Given the description of an element on the screen output the (x, y) to click on. 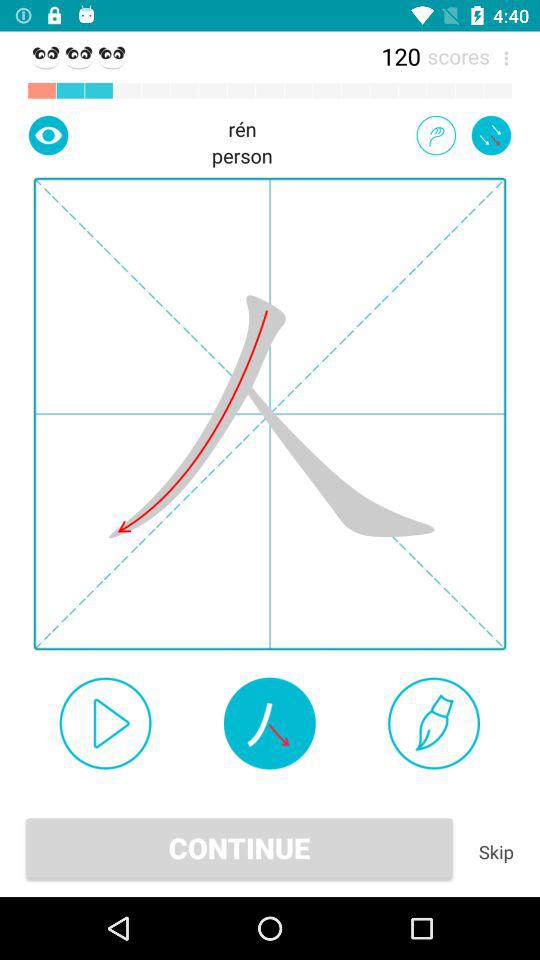
choose the icon to the right of the continue icon (495, 851)
